Given the description of an element on the screen output the (x, y) to click on. 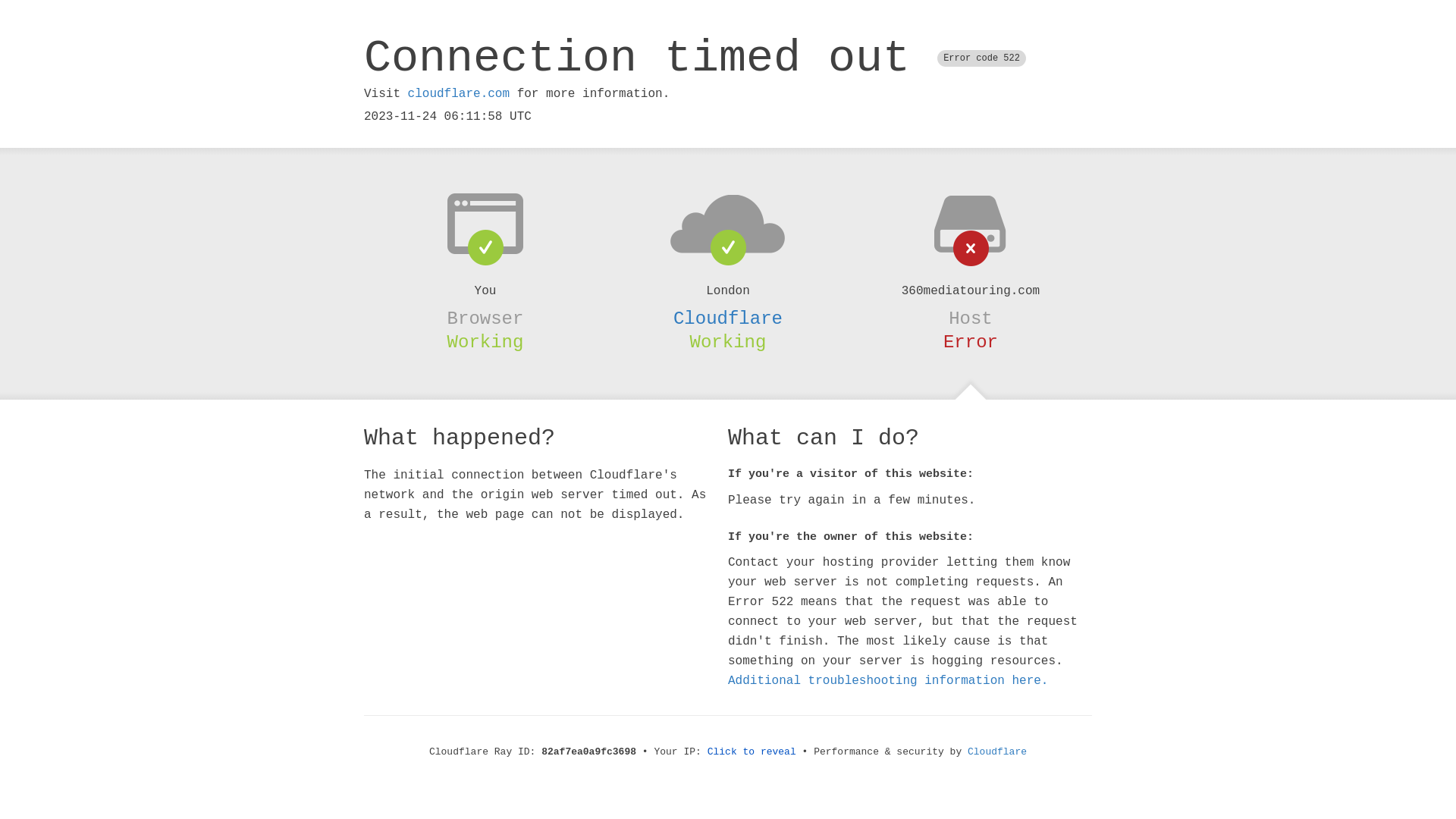
Additional troubleshooting information here. Element type: text (888, 680)
Cloudflare Element type: text (996, 751)
cloudflare.com Element type: text (458, 93)
Click to reveal Element type: text (751, 751)
Cloudflare Element type: text (727, 318)
